Given the description of an element on the screen output the (x, y) to click on. 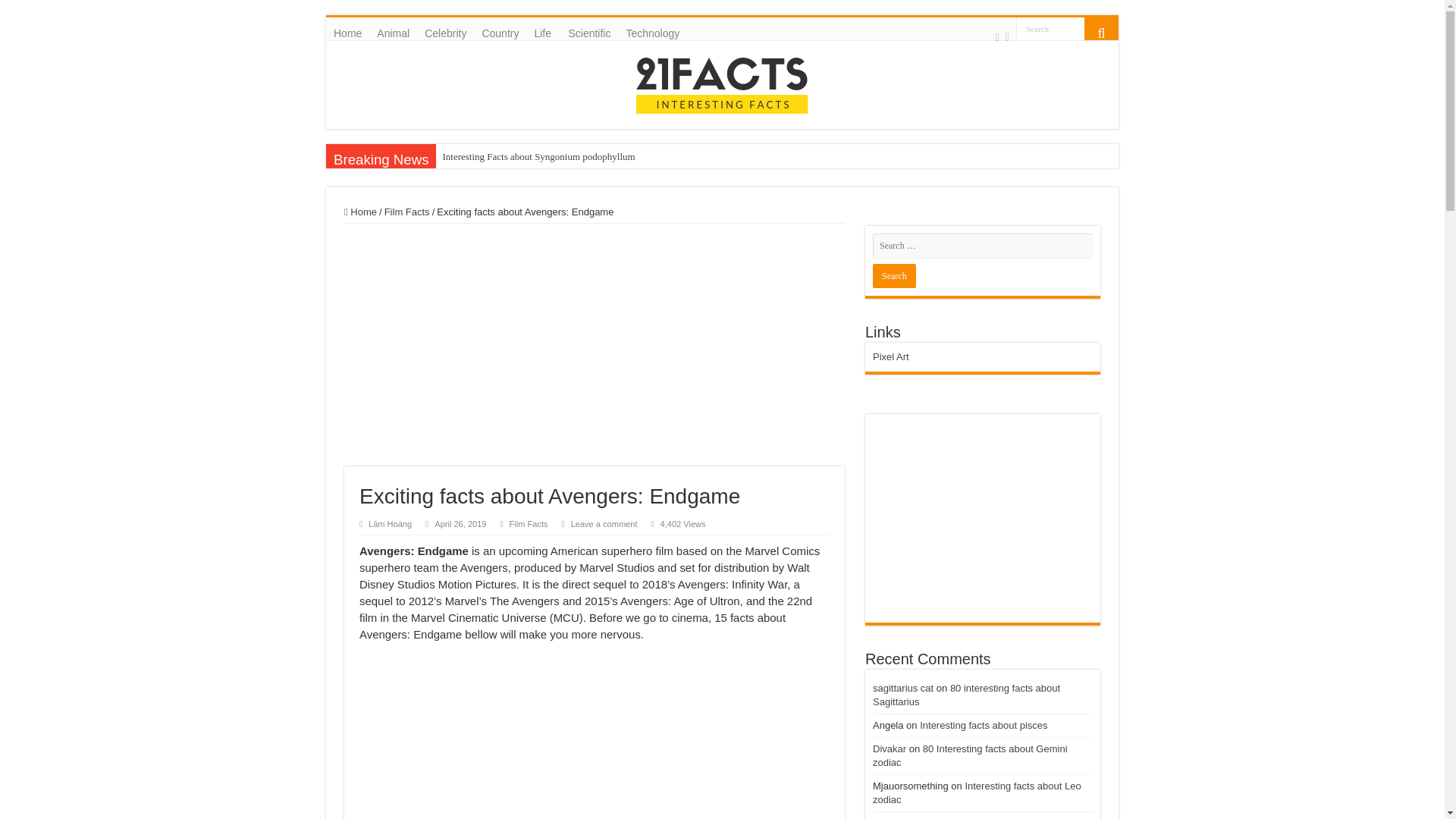
Technology (652, 33)
Search (1050, 28)
Life (542, 33)
Film Facts (528, 523)
Animal (392, 33)
Scientific (588, 33)
Interesting Facts about Syngonium podophyllum (588, 156)
Search (893, 275)
Film Facts (406, 211)
Search (1050, 28)
Leave a comment (603, 523)
Interesting Facts about Syngonium podophyllum (588, 156)
Country (499, 33)
Search (1101, 28)
Home (347, 33)
